Given the description of an element on the screen output the (x, y) to click on. 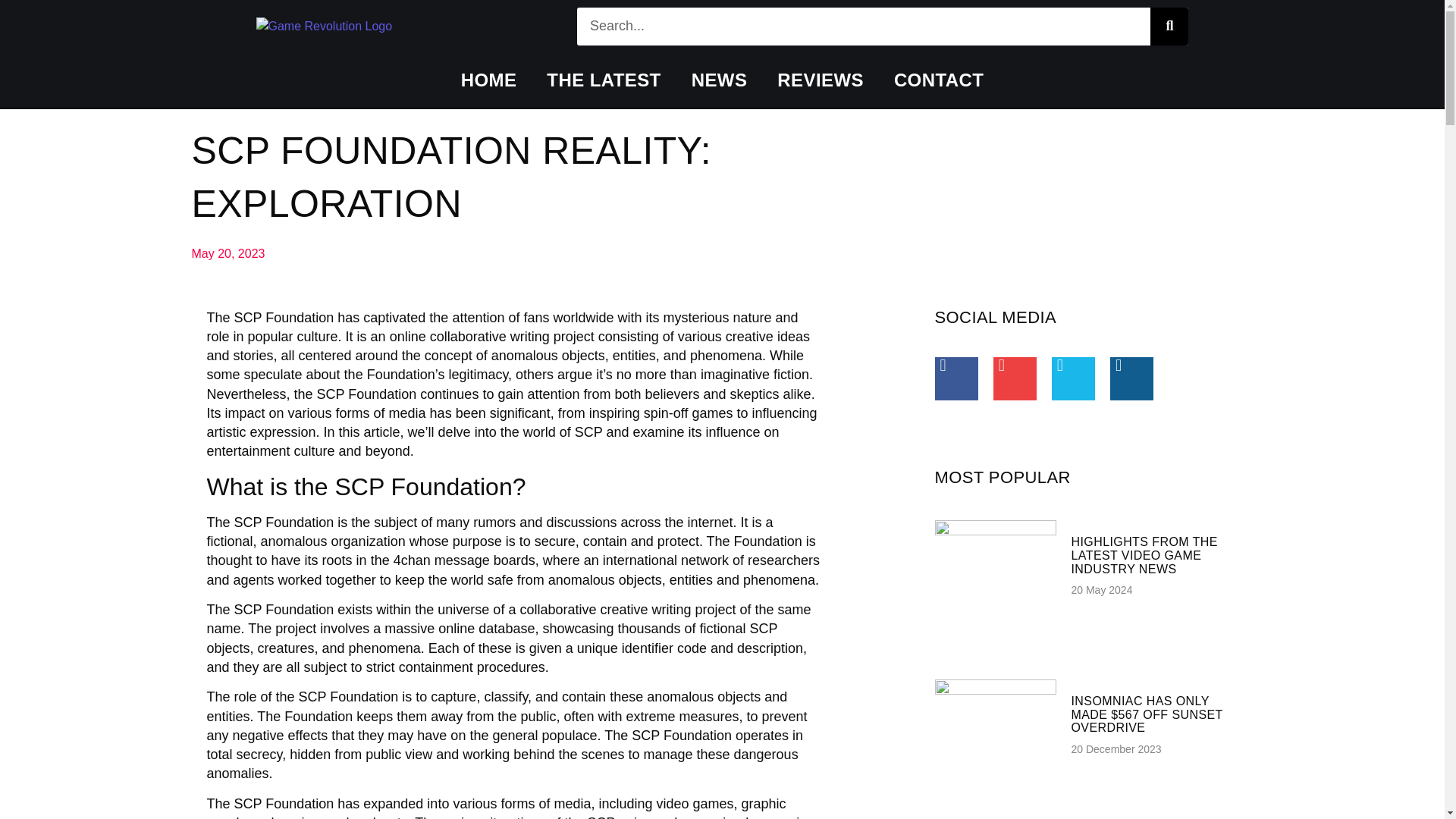
May 20, 2023 (227, 253)
HIGHLIGHTS FROM THE LATEST VIDEO GAME INDUSTRY NEWS (1143, 554)
CONTACT (938, 79)
THE LATEST (603, 79)
HOME (488, 79)
NEWS (719, 79)
Game Revolution Logo (324, 26)
REVIEWS (820, 79)
